Given the description of an element on the screen output the (x, y) to click on. 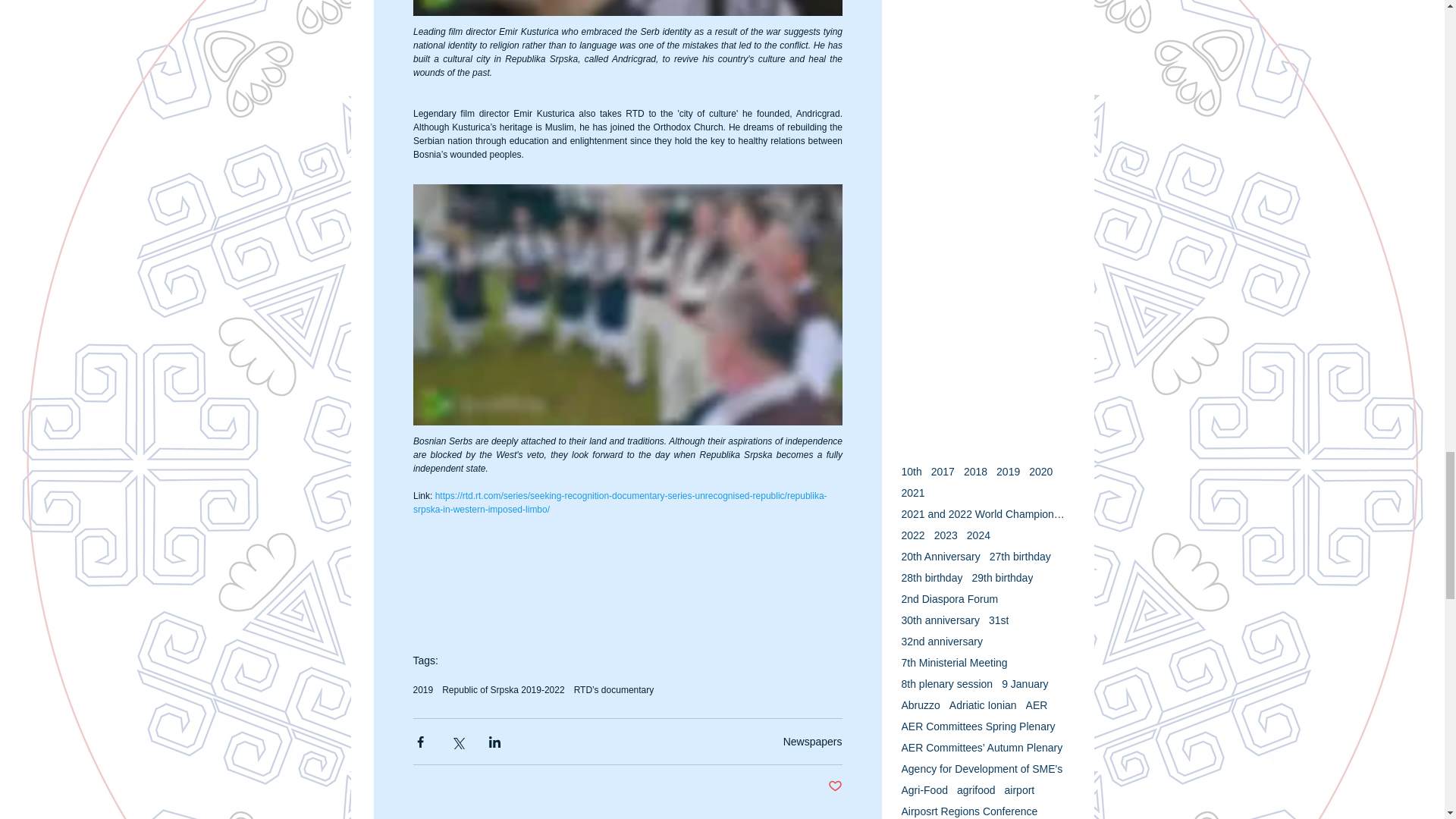
Newspapers (813, 741)
Post not marked as liked (835, 786)
2019 (422, 689)
Republic of Srpska 2019-2022 (503, 689)
